Given the description of an element on the screen output the (x, y) to click on. 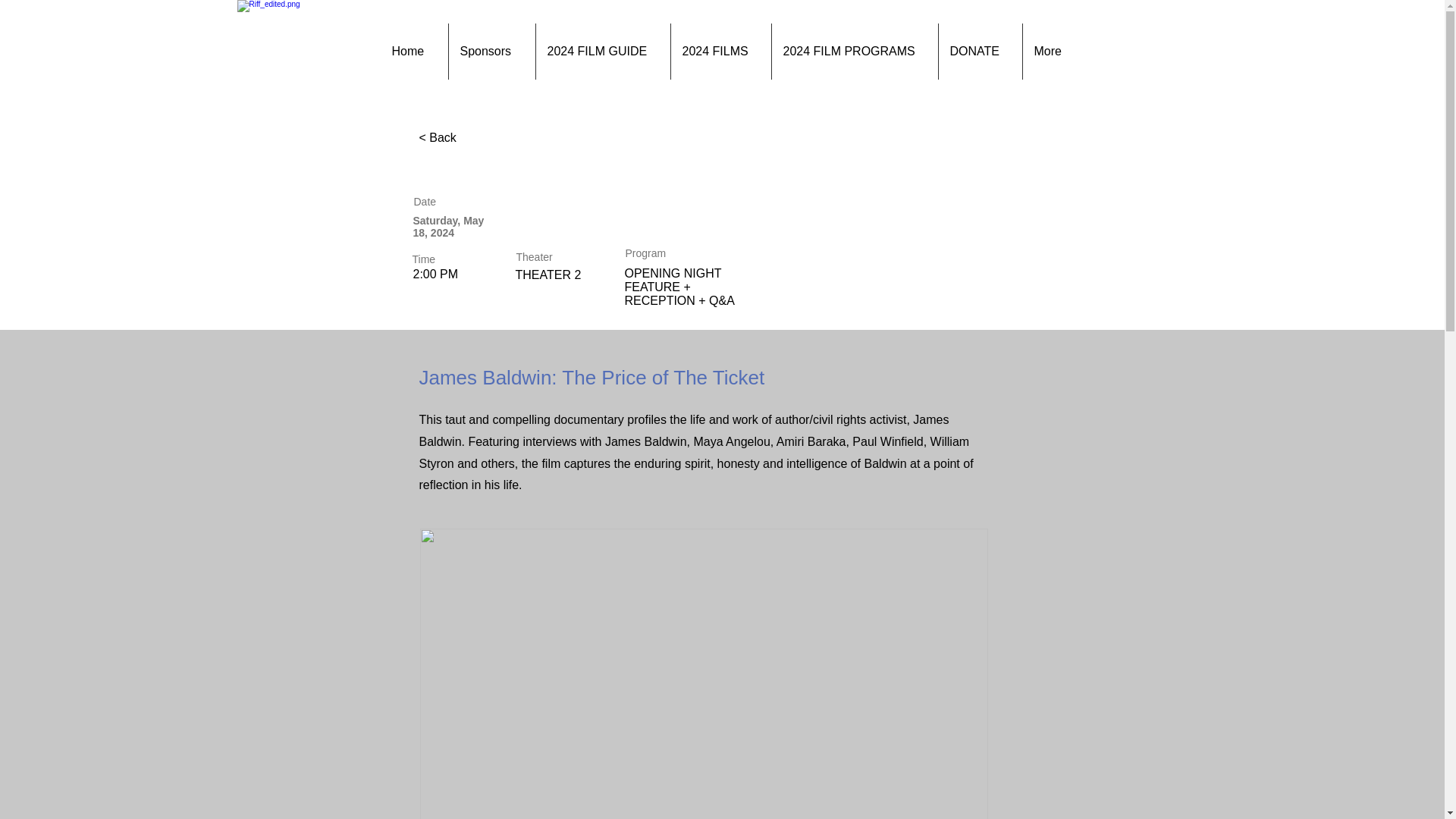
DONATE (979, 51)
Sponsors (490, 51)
2024 FILM PROGRAMS (853, 51)
2024 FILM GUIDE (602, 51)
Home (414, 51)
2024 FILMS (720, 51)
